Given the description of an element on the screen output the (x, y) to click on. 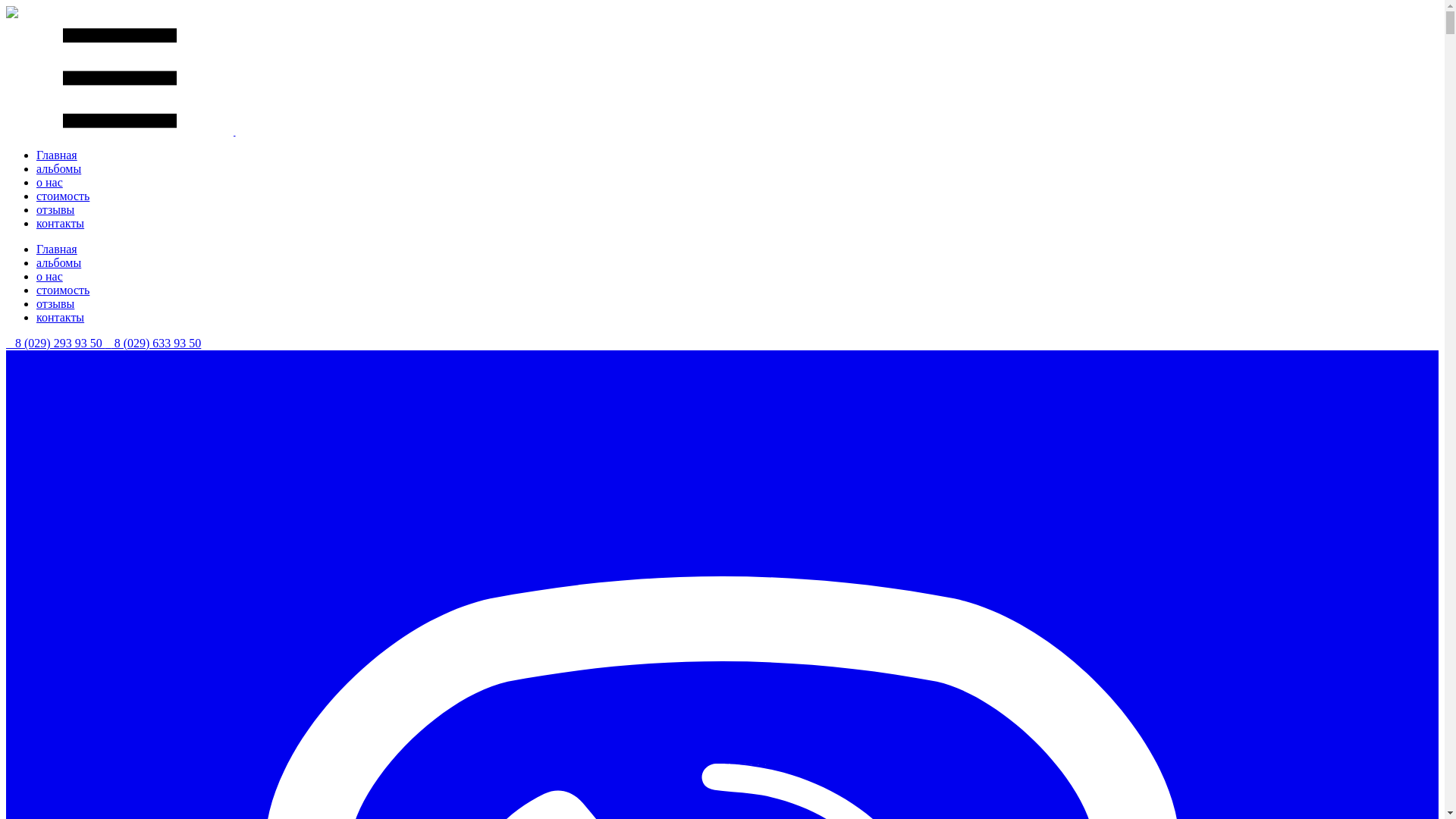
   8 (029) 293 93 50 Element type: text (55, 342)
   8 (029) 633 93 50 Element type: text (153, 342)
